Given the description of an element on the screen output the (x, y) to click on. 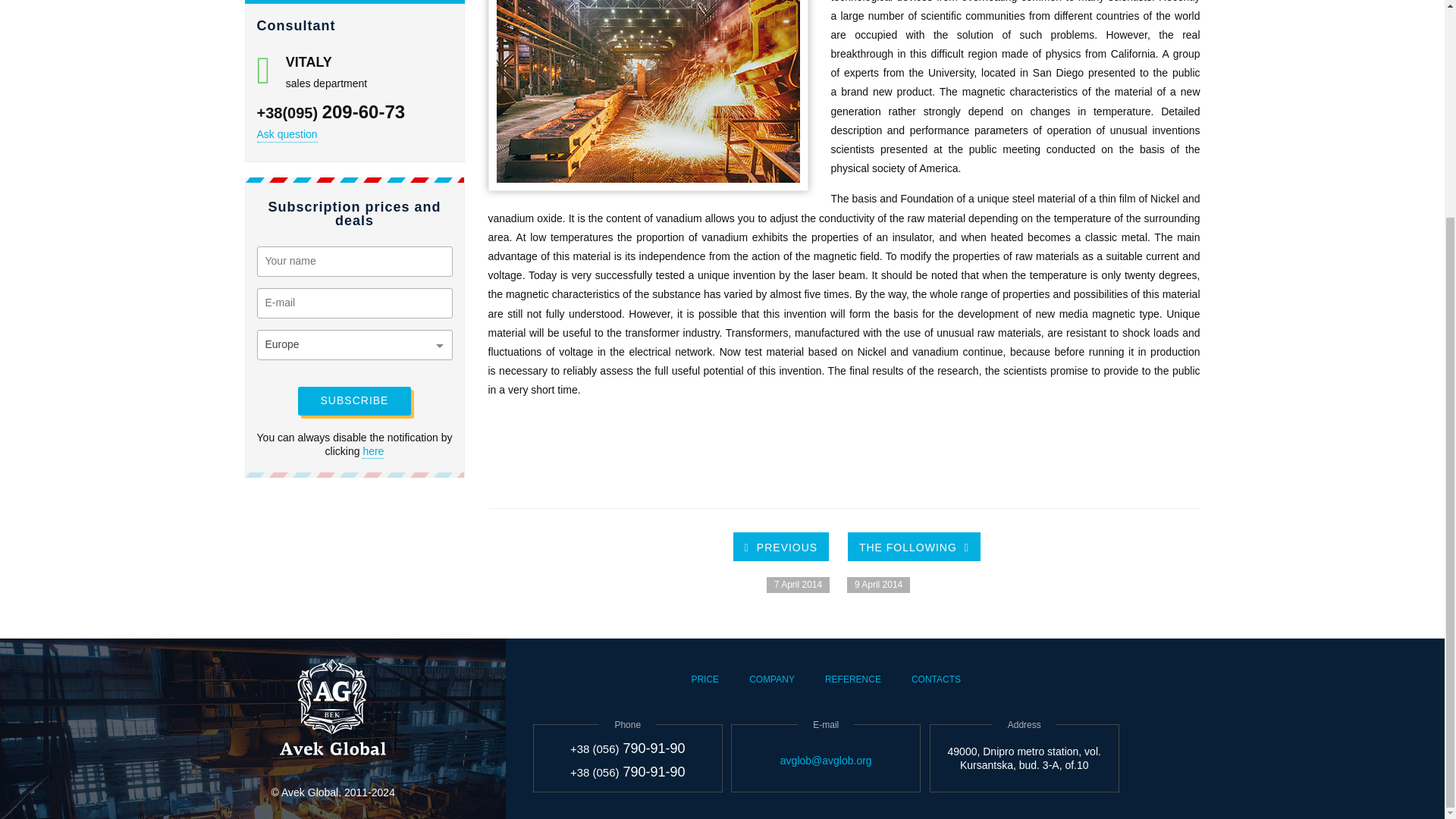
Europe (354, 344)
